Given the description of an element on the screen output the (x, y) to click on. 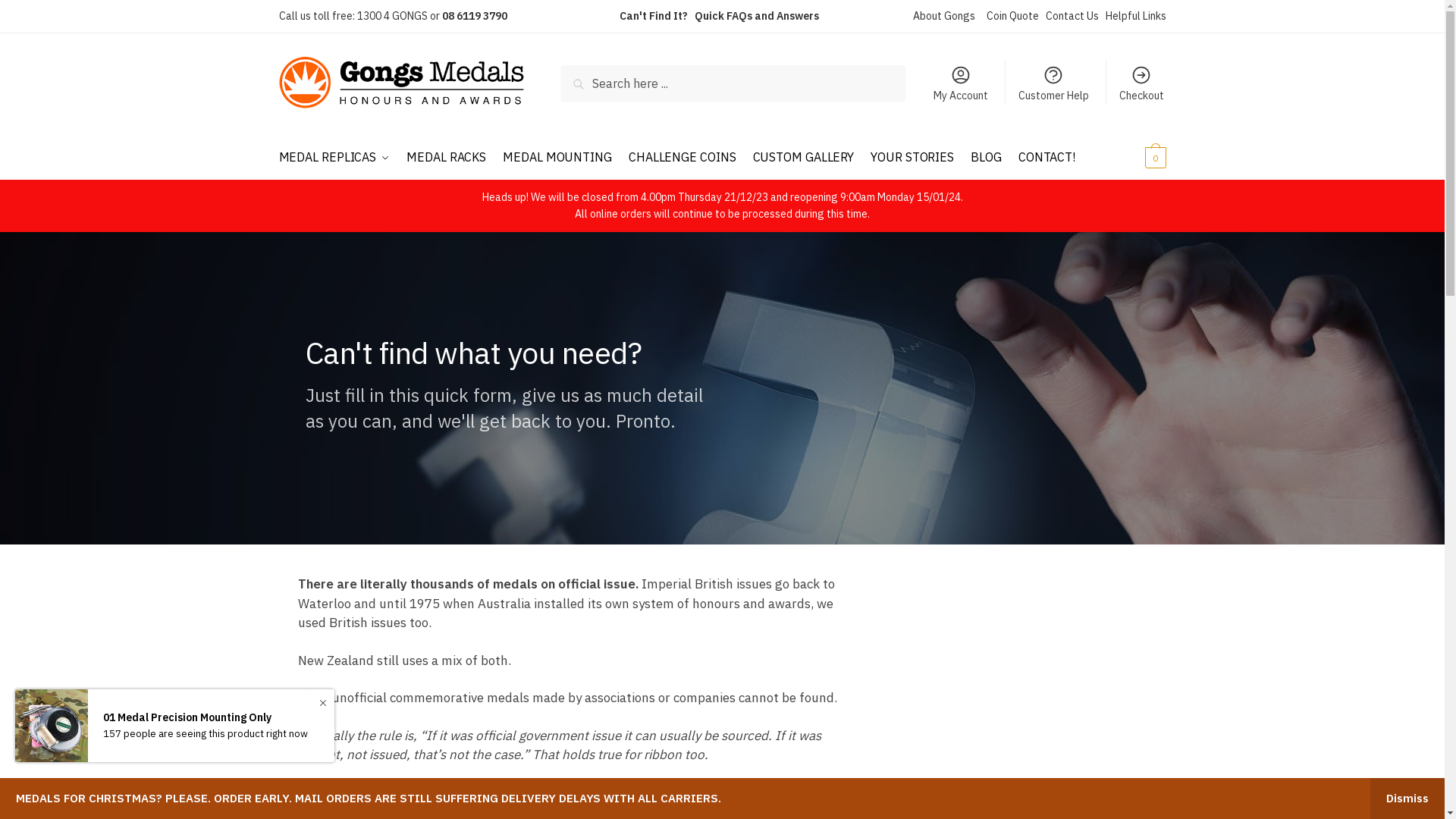
Helpful Links Element type: text (1135, 16)
01 Medal Precision Mounting Only Element type: text (205, 717)
About Gongs Element type: text (944, 16)
MEDAL MOUNTING Element type: text (556, 156)
CHALLENGE COINS Element type: text (681, 156)
Search Element type: text (584, 75)
CONTACT! Element type: text (1046, 156)
YOUR STORIES Element type: text (911, 156)
CUSTOM GALLERY Element type: text (803, 156)
Contact Us Element type: text (1071, 16)
Quick FAQs and Answers Element type: text (756, 16)
Customer Help Element type: text (1053, 82)
Coin Quote Element type: text (1011, 16)
My Account Element type: text (960, 82)
MEDAL REPLICAS Element type: text (337, 156)
MEDAL RACKS Element type: text (445, 156)
BLOG Element type: text (985, 156)
$0.00 0 Element type: text (1135, 156)
Checkout Element type: text (1141, 82)
Can't Find It? Element type: text (652, 16)
